Given the description of an element on the screen output the (x, y) to click on. 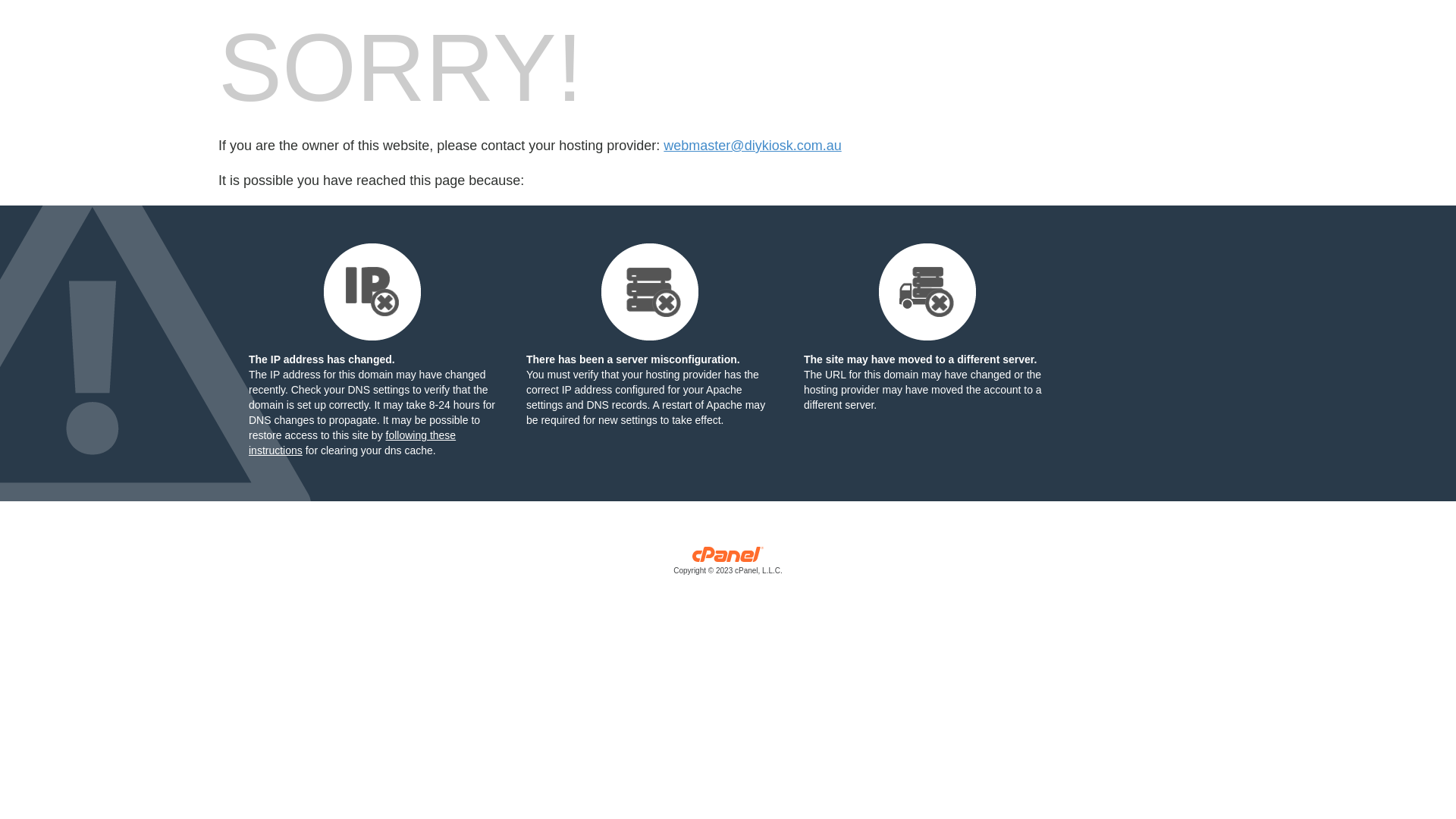
following these instructions Element type: text (351, 442)
webmaster@diykiosk.com.au Element type: text (751, 145)
